Given the description of an element on the screen output the (x, y) to click on. 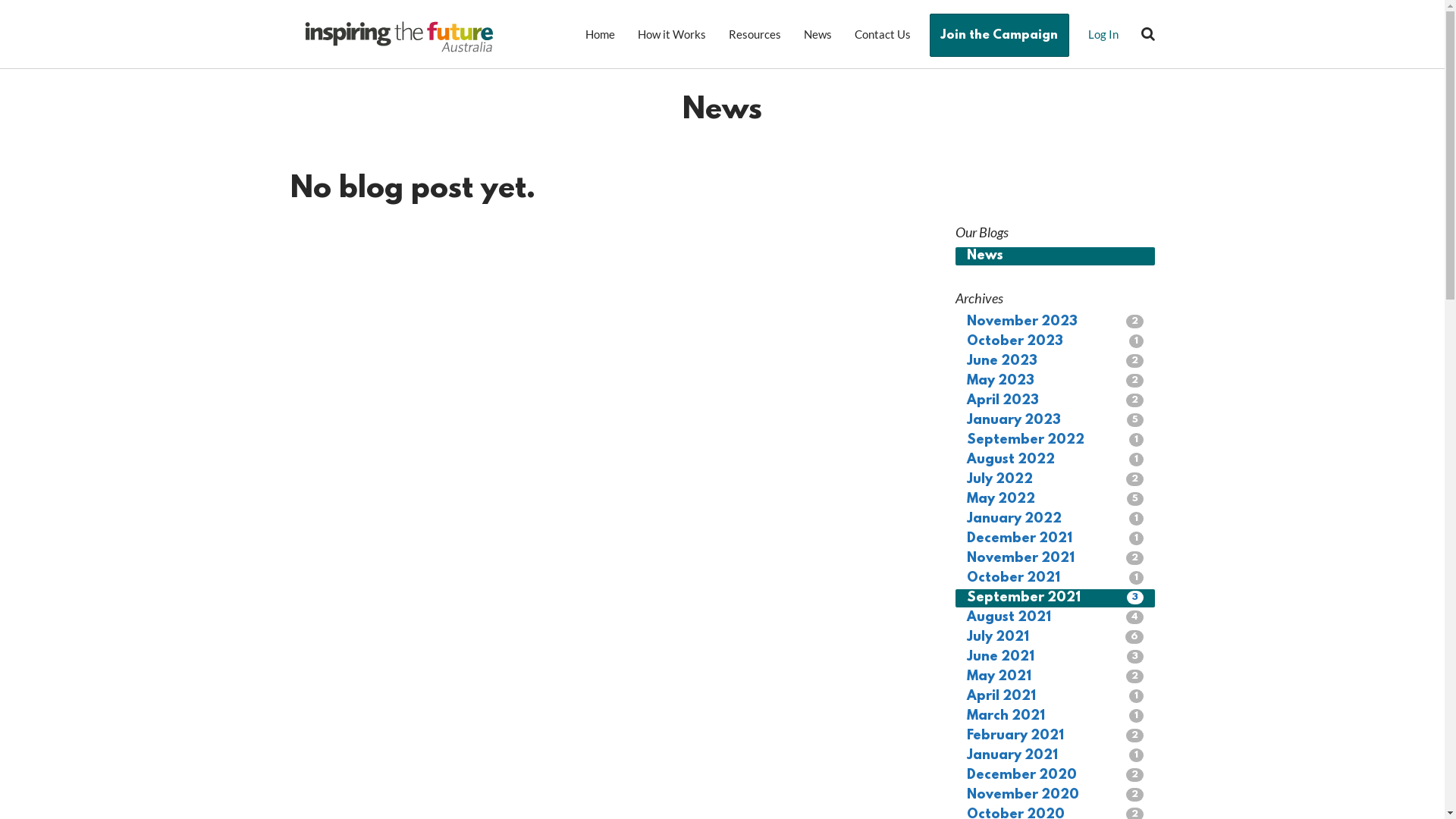
Home Element type: text (599, 34)
November 2023
2 Element type: text (1054, 322)
April 2023
2 Element type: text (1054, 401)
May 2022
5 Element type: text (1054, 499)
December 2021
1 Element type: text (1054, 539)
June 2021
3 Element type: text (1054, 657)
News Element type: text (816, 34)
November 2020
2 Element type: text (1054, 795)
Log In Element type: text (1102, 34)
August 2021
4 Element type: text (1054, 617)
July 2022
2 Element type: text (1054, 479)
November 2021
2 Element type: text (1054, 558)
September 2021
3 Element type: text (1054, 598)
Inspiring The Future AUSTRALIA Element type: hover (398, 35)
October 2021
1 Element type: text (1054, 578)
Resources Element type: text (754, 34)
December 2020
2 Element type: text (1054, 775)
Contact Us Element type: text (882, 34)
January 2022
1 Element type: text (1054, 519)
August 2022
1 Element type: text (1054, 460)
April 2021
1 Element type: text (1054, 696)
How it Works Element type: text (671, 34)
January 2021
1 Element type: text (1054, 755)
May 2021
2 Element type: text (1054, 677)
Join the Campaign Element type: text (999, 34)
News Element type: text (1054, 256)
February 2021
2 Element type: text (1054, 736)
May 2023
2 Element type: text (1054, 381)
June 2023
2 Element type: text (1054, 361)
September 2022
1 Element type: text (1054, 440)
January 2023
5 Element type: text (1054, 420)
July 2021
6 Element type: text (1054, 637)
March 2021
1 Element type: text (1054, 716)
October 2023
1 Element type: text (1054, 341)
